Given the description of an element on the screen output the (x, y) to click on. 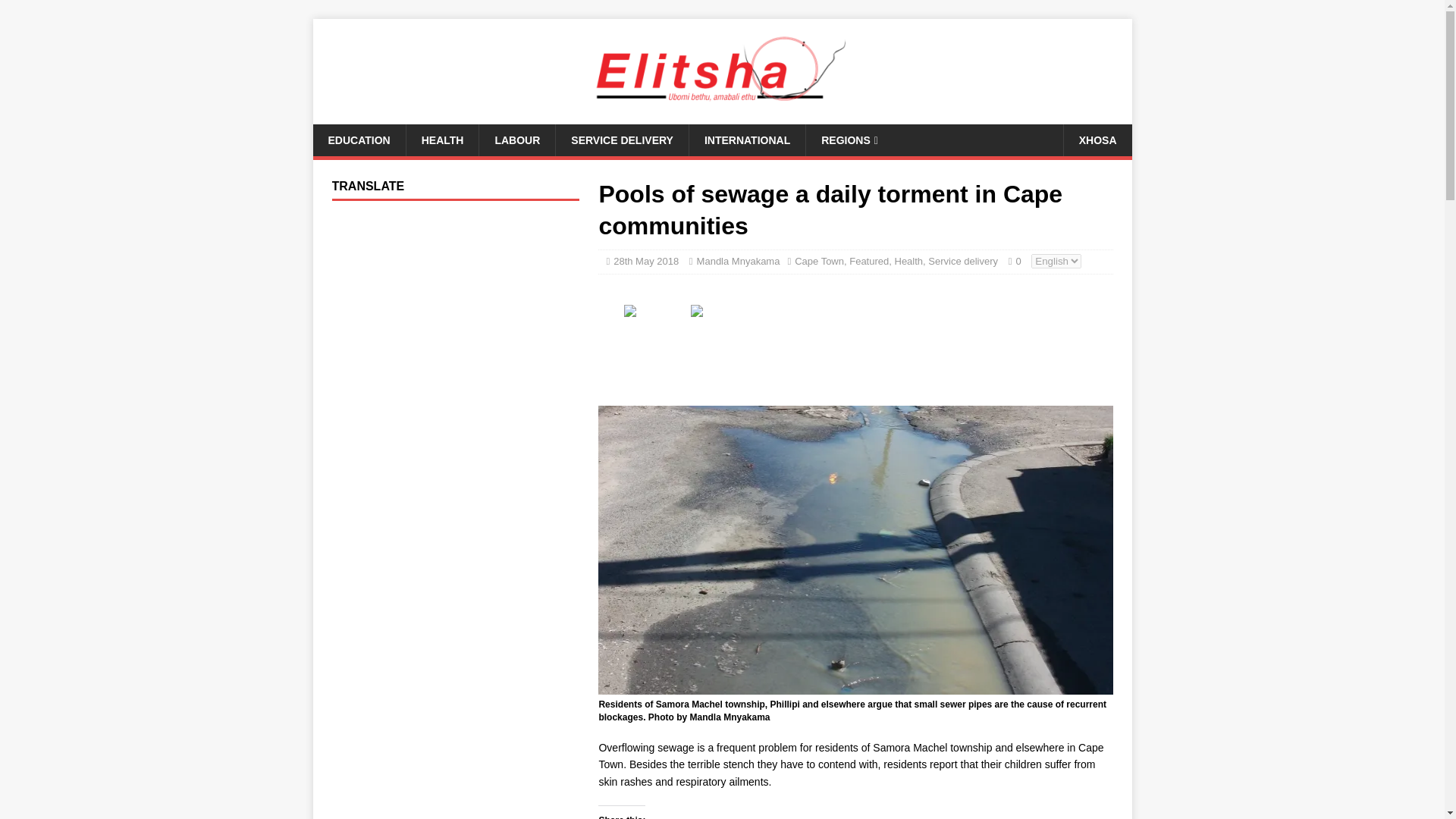
Mandla Mnyakama (738, 260)
28th May 2018 (645, 260)
LABOUR (516, 140)
REGIONS (849, 140)
INTERNATIONAL (746, 140)
Cape Town (819, 260)
Service delivery (962, 260)
EDUCATION (358, 140)
Featured (868, 260)
HEALTH (442, 140)
Health (909, 260)
XHOSA (1097, 140)
SERVICE DELIVERY (621, 140)
